Given the description of an element on the screen output the (x, y) to click on. 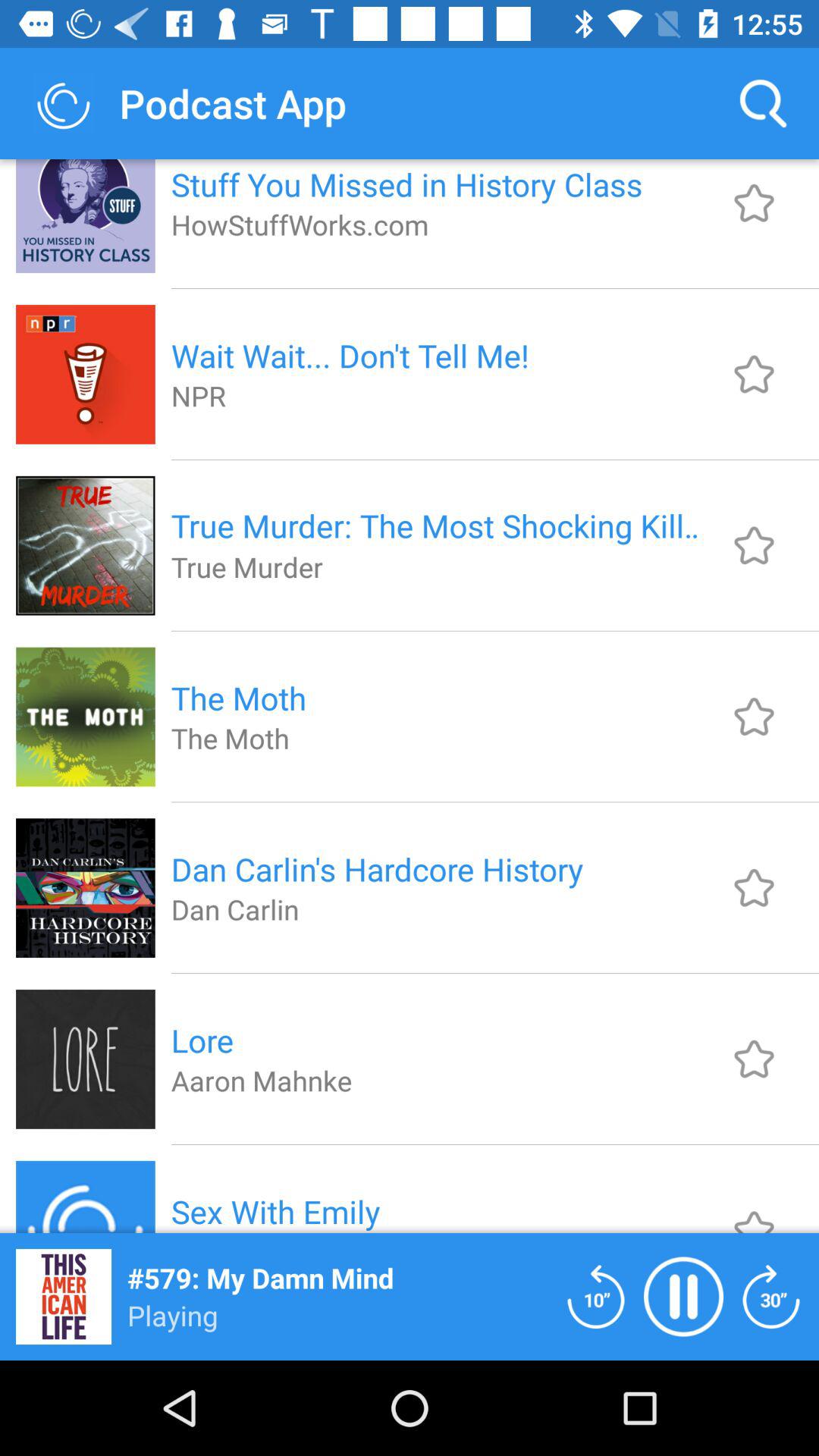
favorite (754, 716)
